Given the description of an element on the screen output the (x, y) to click on. 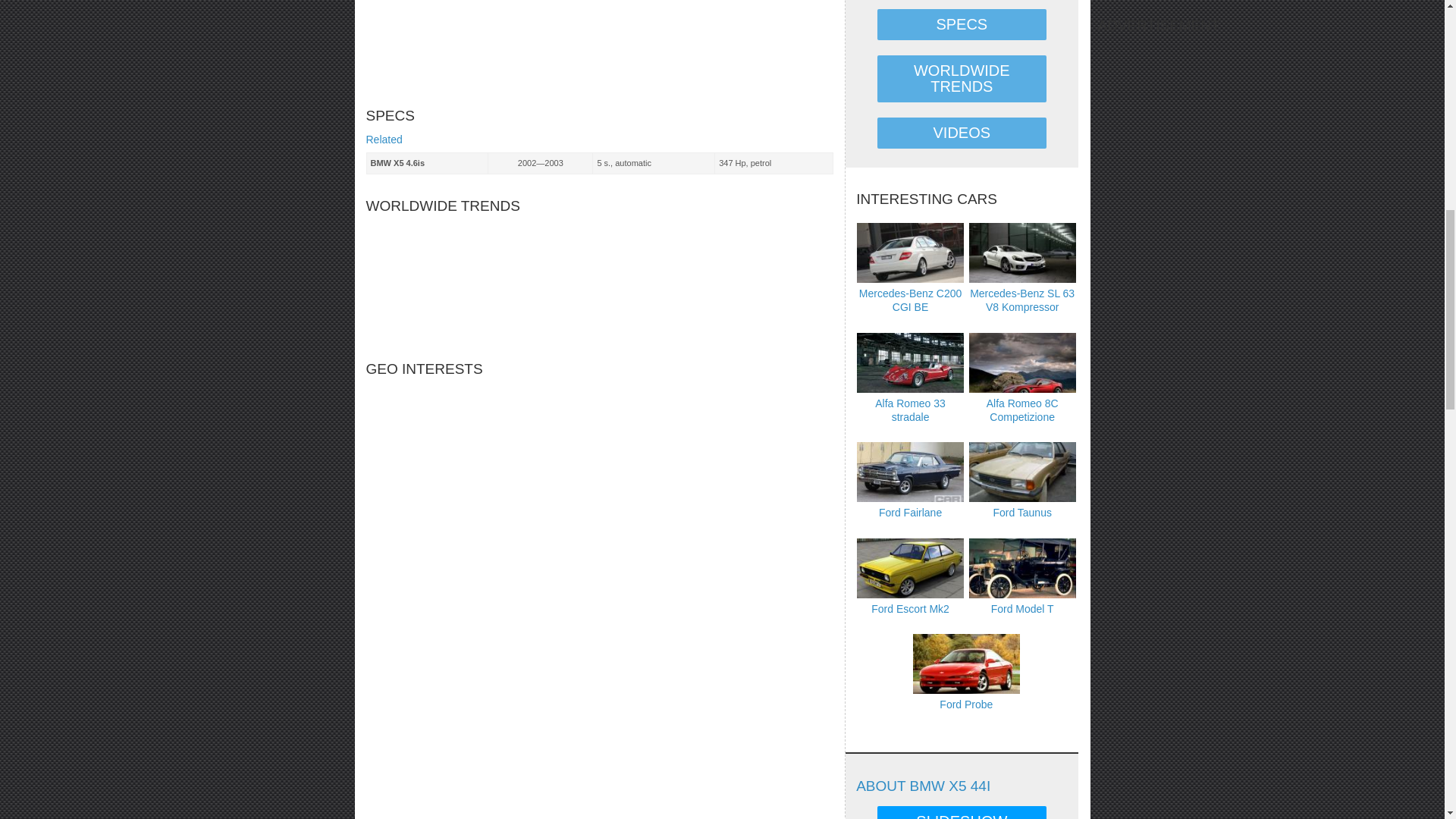
Advertisement (724, 45)
Advertisement (478, 45)
trends-widget-1 (598, 278)
